Given the description of an element on the screen output the (x, y) to click on. 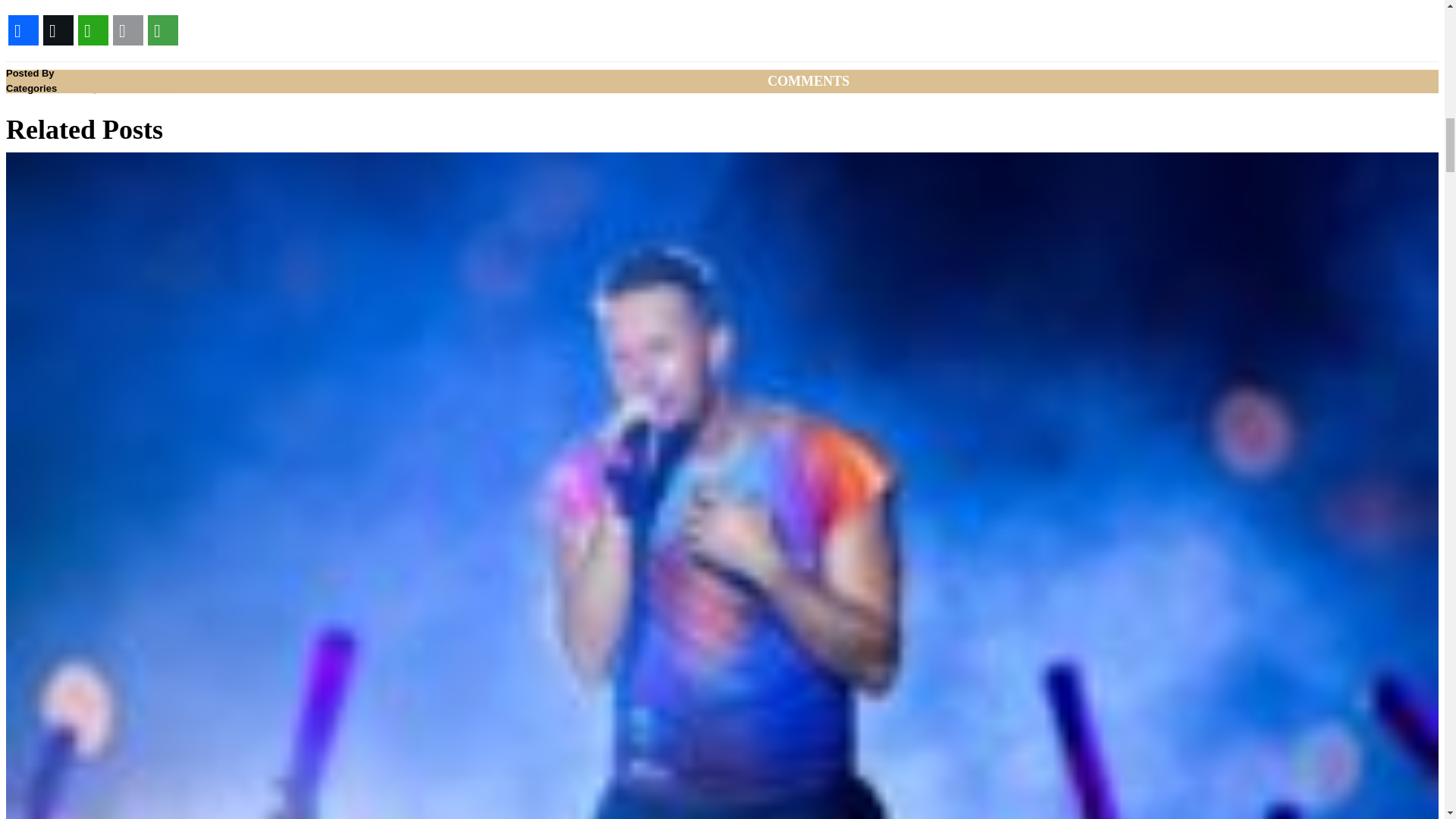
More Options (162, 30)
Email This (127, 30)
WhatsApp (92, 30)
Facebook (22, 30)
